Given the description of an element on the screen output the (x, y) to click on. 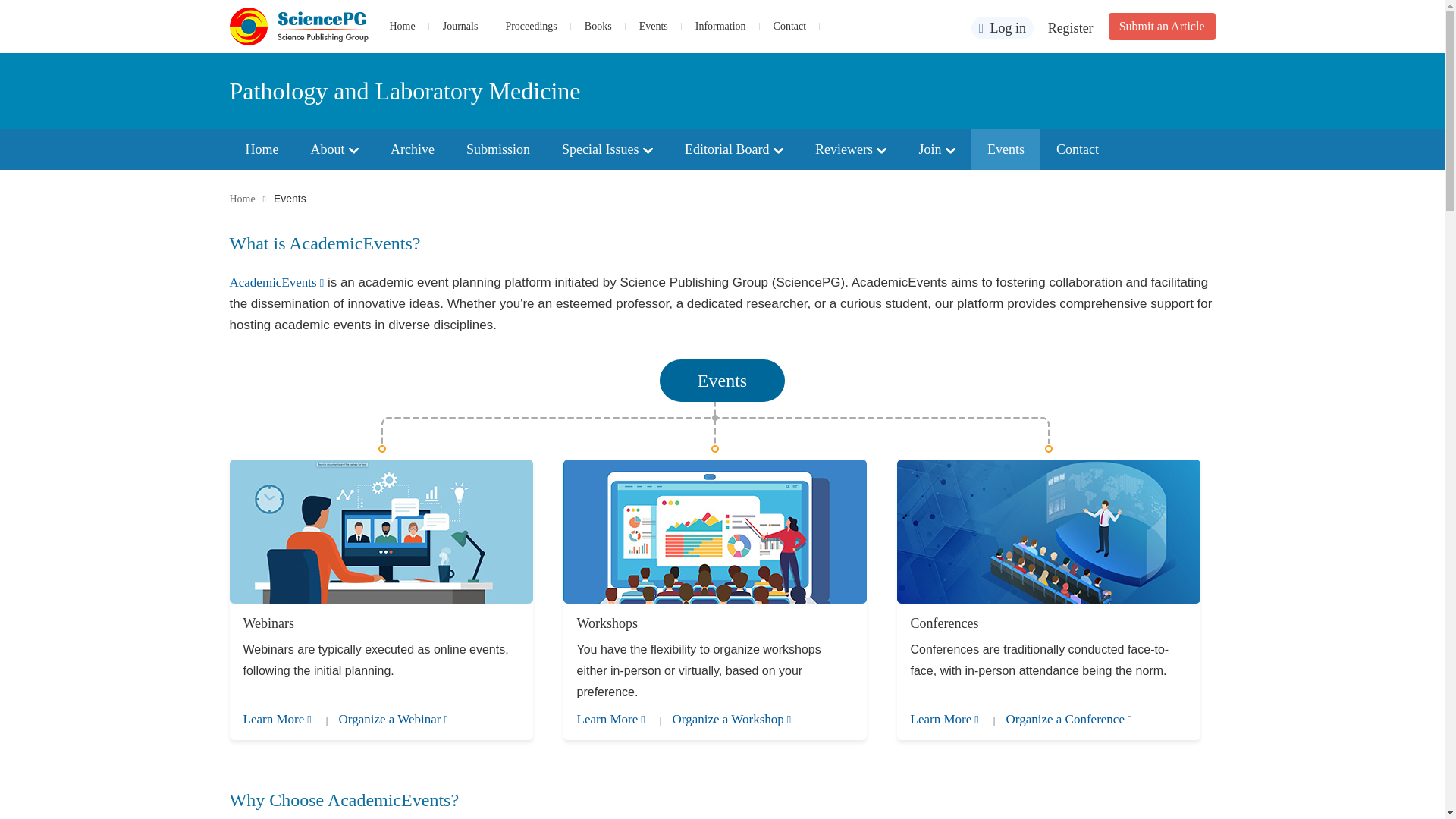
Proceedings (530, 25)
Editorial Board (733, 148)
Information (720, 25)
Home (402, 25)
Join (936, 148)
Events (653, 25)
Reviewers (850, 148)
Submission (497, 148)
Special Issues (607, 148)
Contact (789, 25)
Log in (1002, 27)
Journals (460, 25)
About (334, 148)
Register (1070, 28)
Home (261, 148)
